Given the description of an element on the screen output the (x, y) to click on. 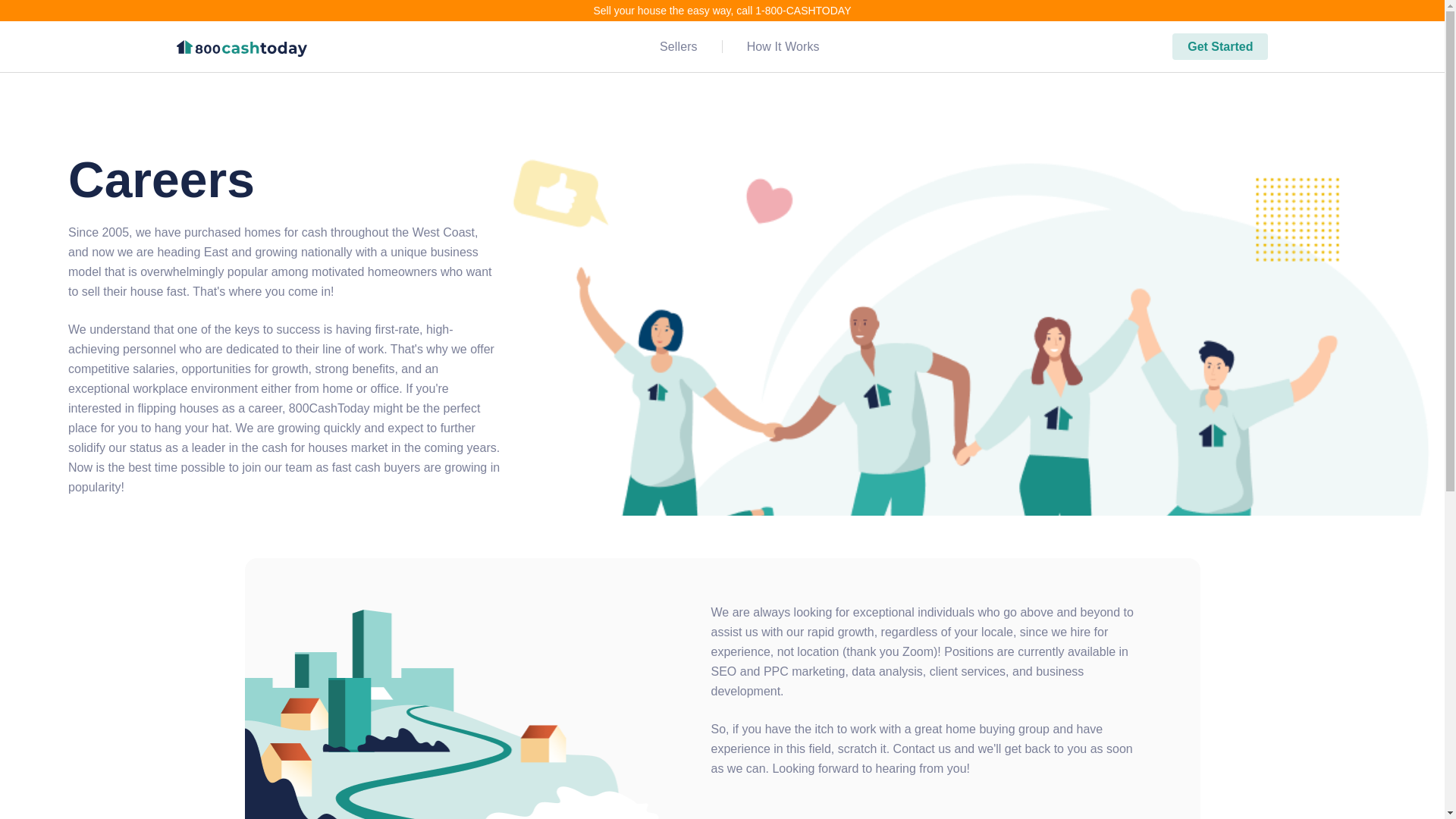
Sellers (690, 45)
Get Started (1220, 46)
How It Works (782, 45)
